Given the description of an element on the screen output the (x, y) to click on. 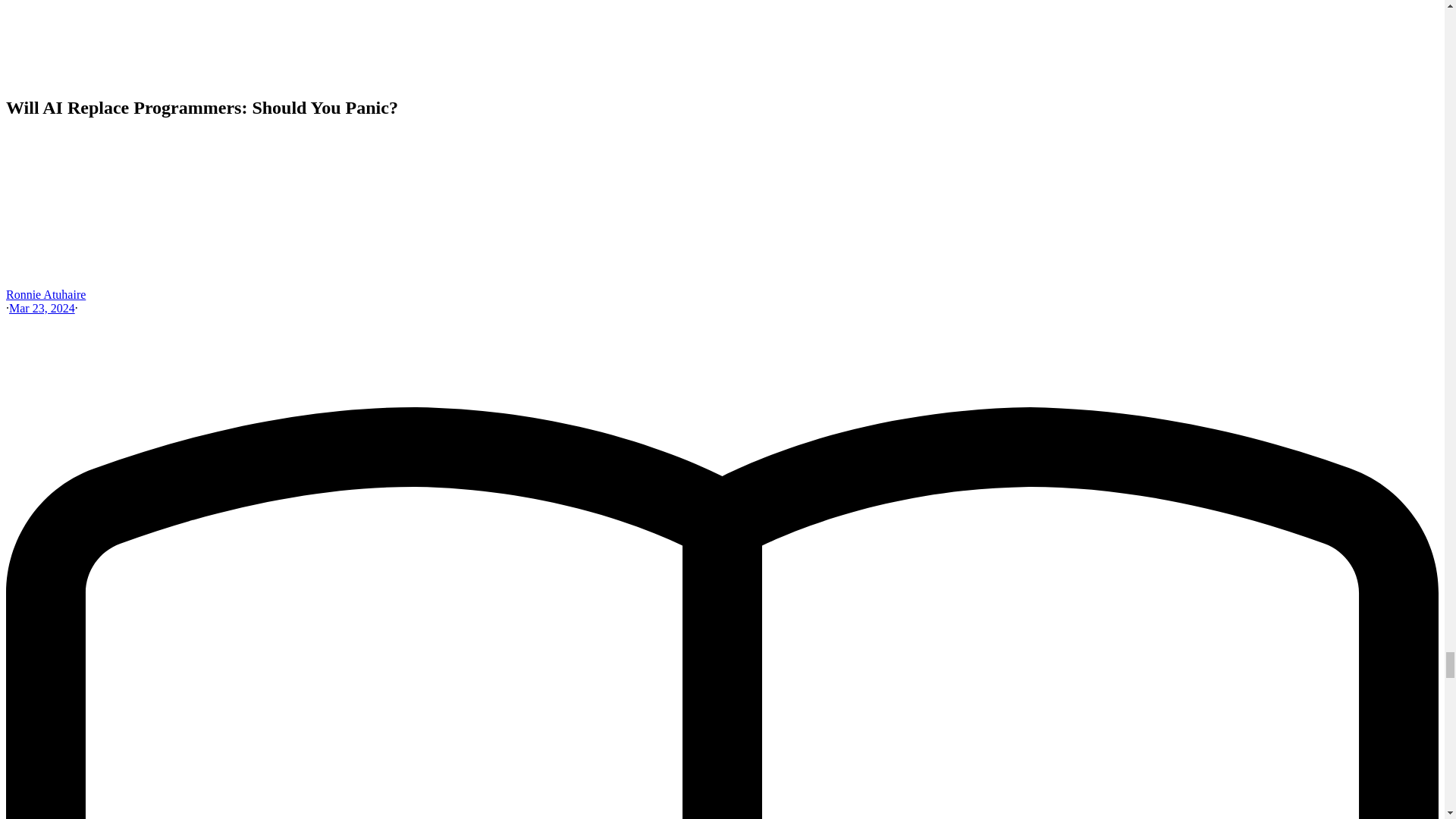
Ronnie Atuhaire (45, 294)
Mar 23, 2024 (41, 308)
